Given the description of an element on the screen output the (x, y) to click on. 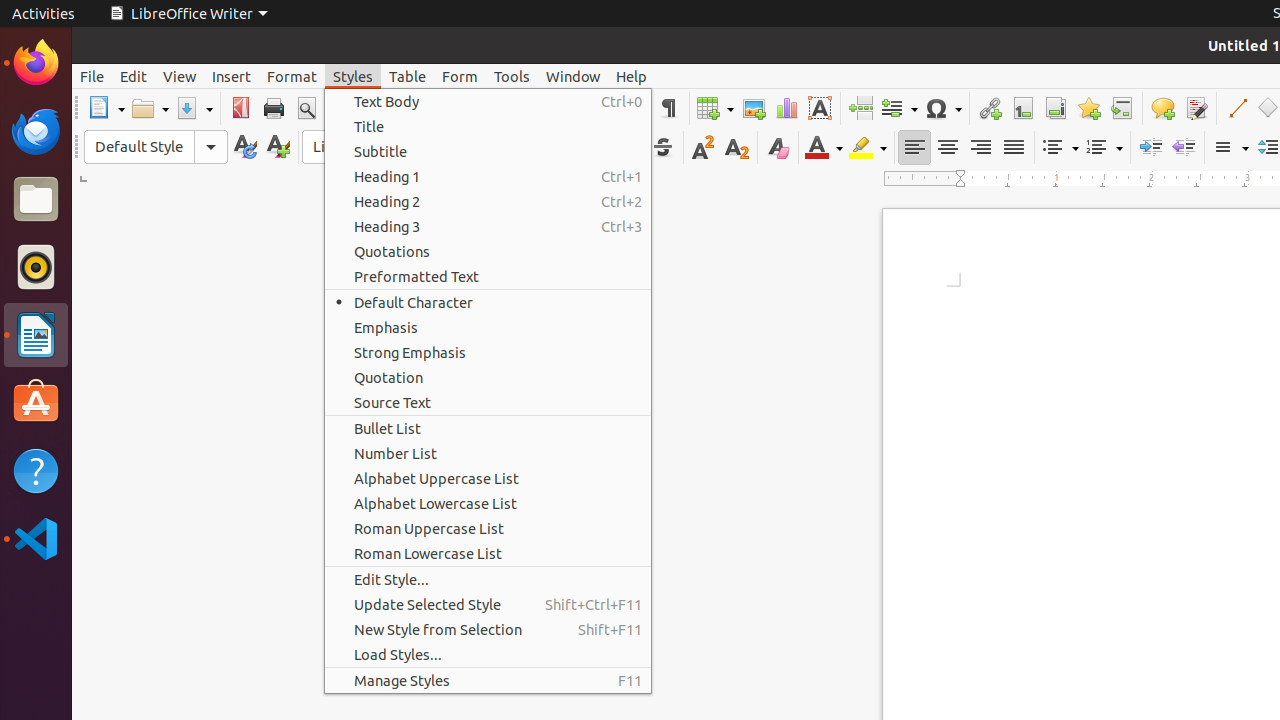
Justified Element type: toggle-button (1013, 147)
Open Element type: push-button (150, 108)
Roman Uppercase List Element type: radio-menu-item (488, 528)
Cross-reference Element type: push-button (1121, 108)
Strong Emphasis Element type: radio-menu-item (488, 352)
